Given the description of an element on the screen output the (x, y) to click on. 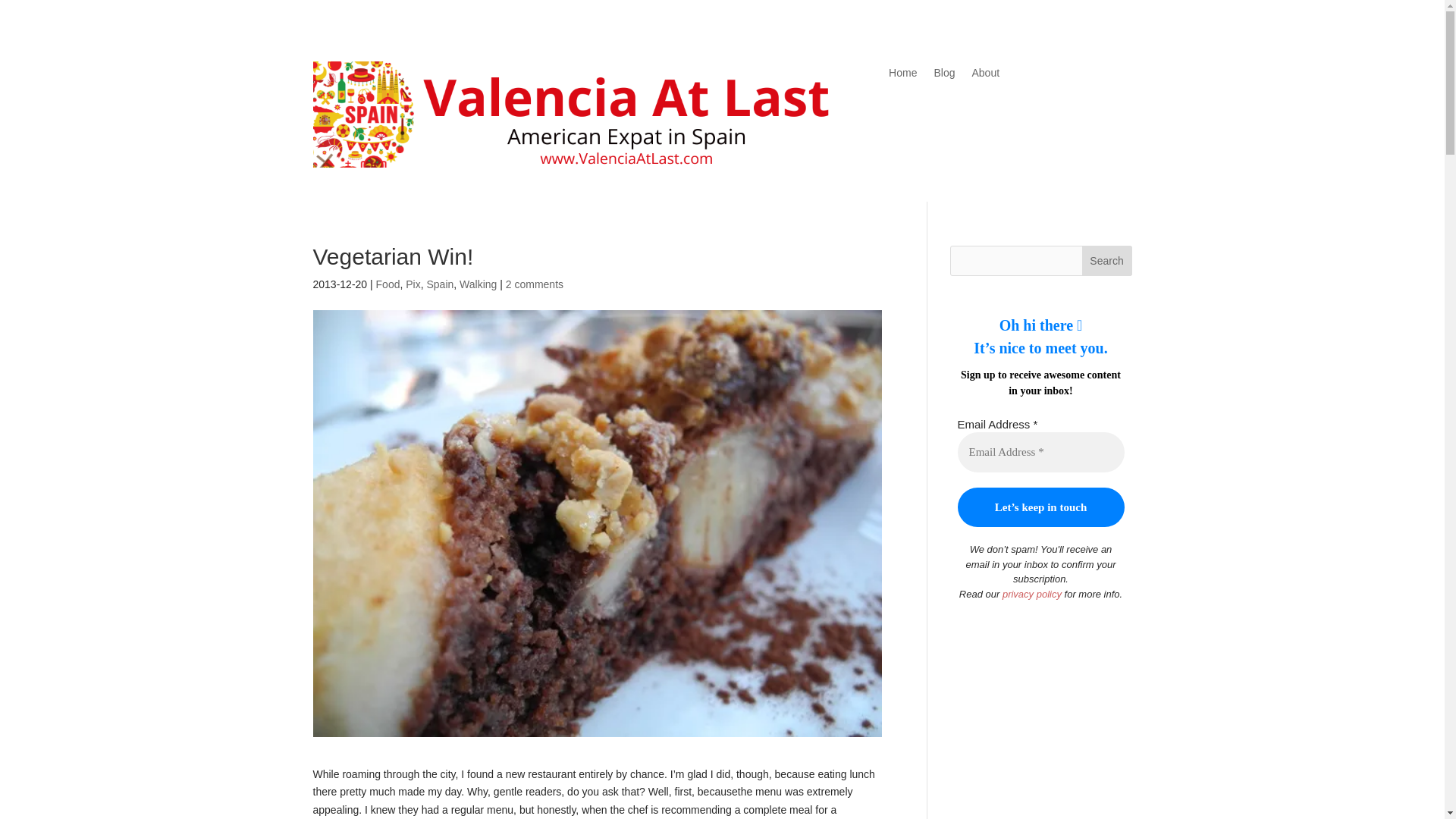
privacy policy (1032, 593)
Walking (478, 284)
Search (1106, 260)
Food (387, 284)
VAL logo 500x100 px (578, 114)
Email Address (1040, 452)
Home (902, 75)
Pix (413, 284)
Blog (944, 75)
About (984, 75)
